Given the description of an element on the screen output the (x, y) to click on. 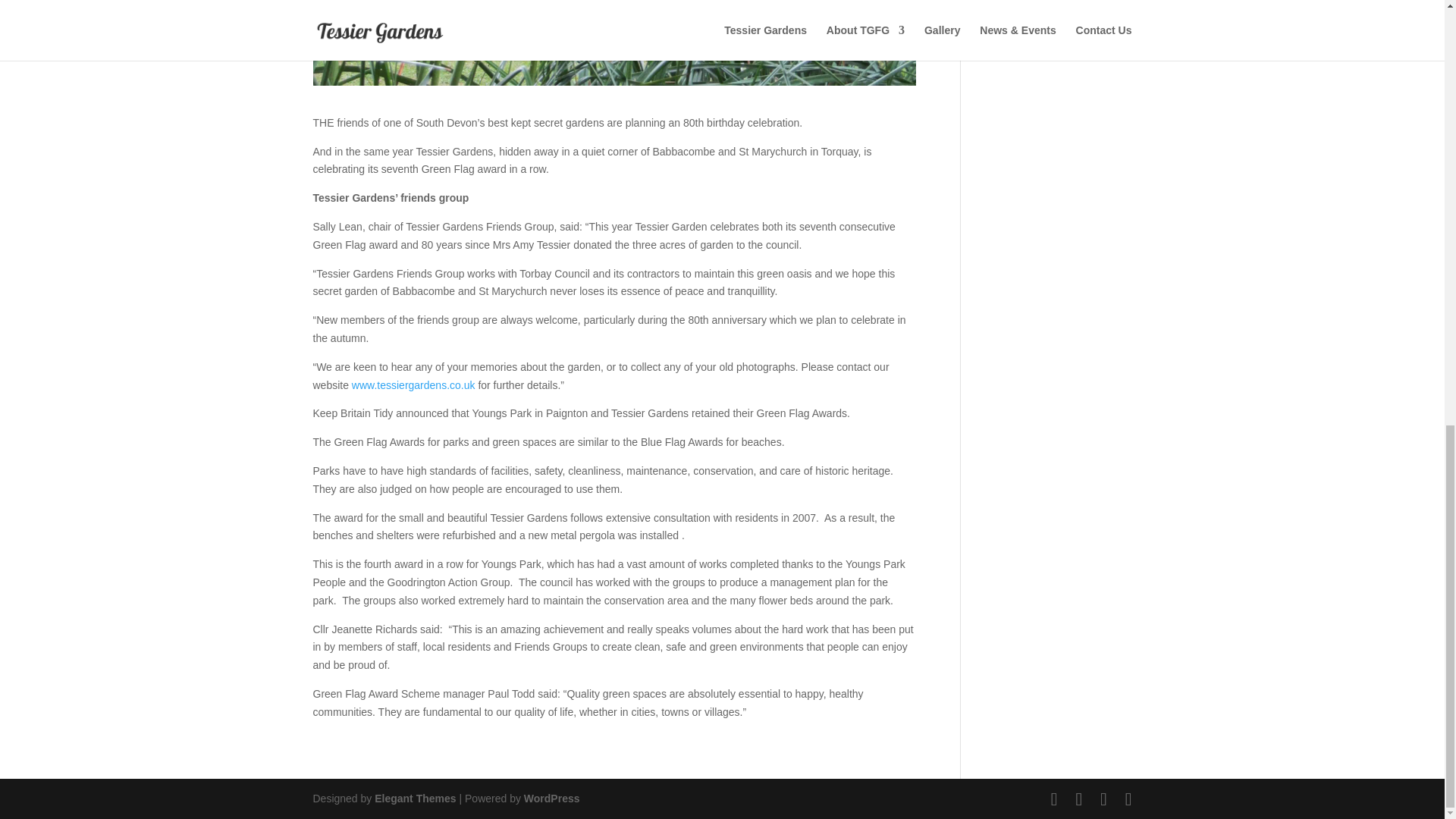
WordPress (551, 798)
Premium WordPress Themes (414, 798)
Elegant Themes (414, 798)
www.tessiergardens.co.uk (414, 385)
